Given the description of an element on the screen output the (x, y) to click on. 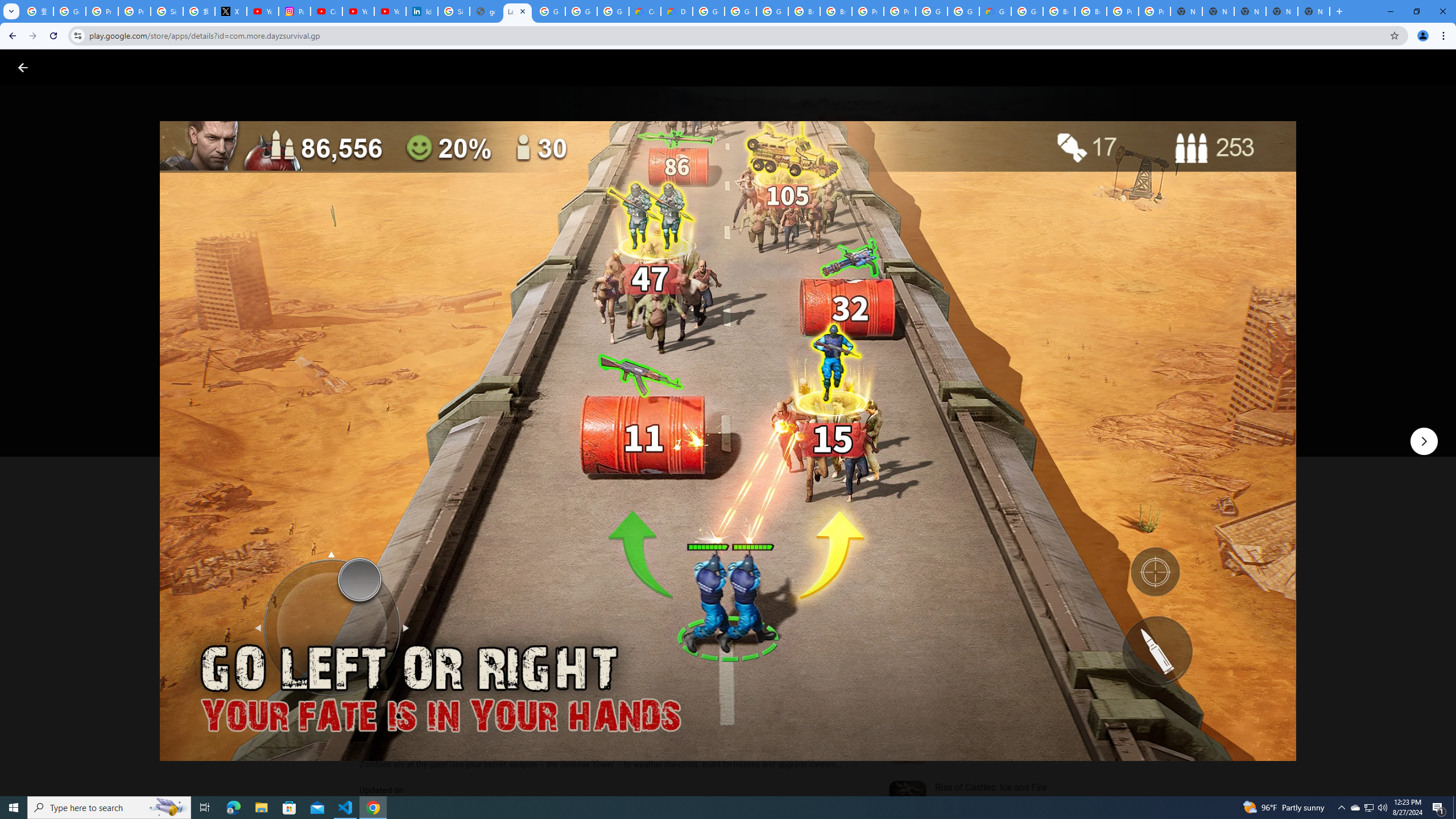
Help Center (1409, 67)
Browse Chrome as a guest - Computer - Google Chrome Help (804, 11)
google_privacy_policy_en.pdf (485, 11)
Add to wishlist (576, 422)
Content rating (553, 373)
Install (416, 423)
Google Cloud Platform (963, 11)
Play trailer (1062, 423)
X (230, 11)
